Given the description of an element on the screen output the (x, y) to click on. 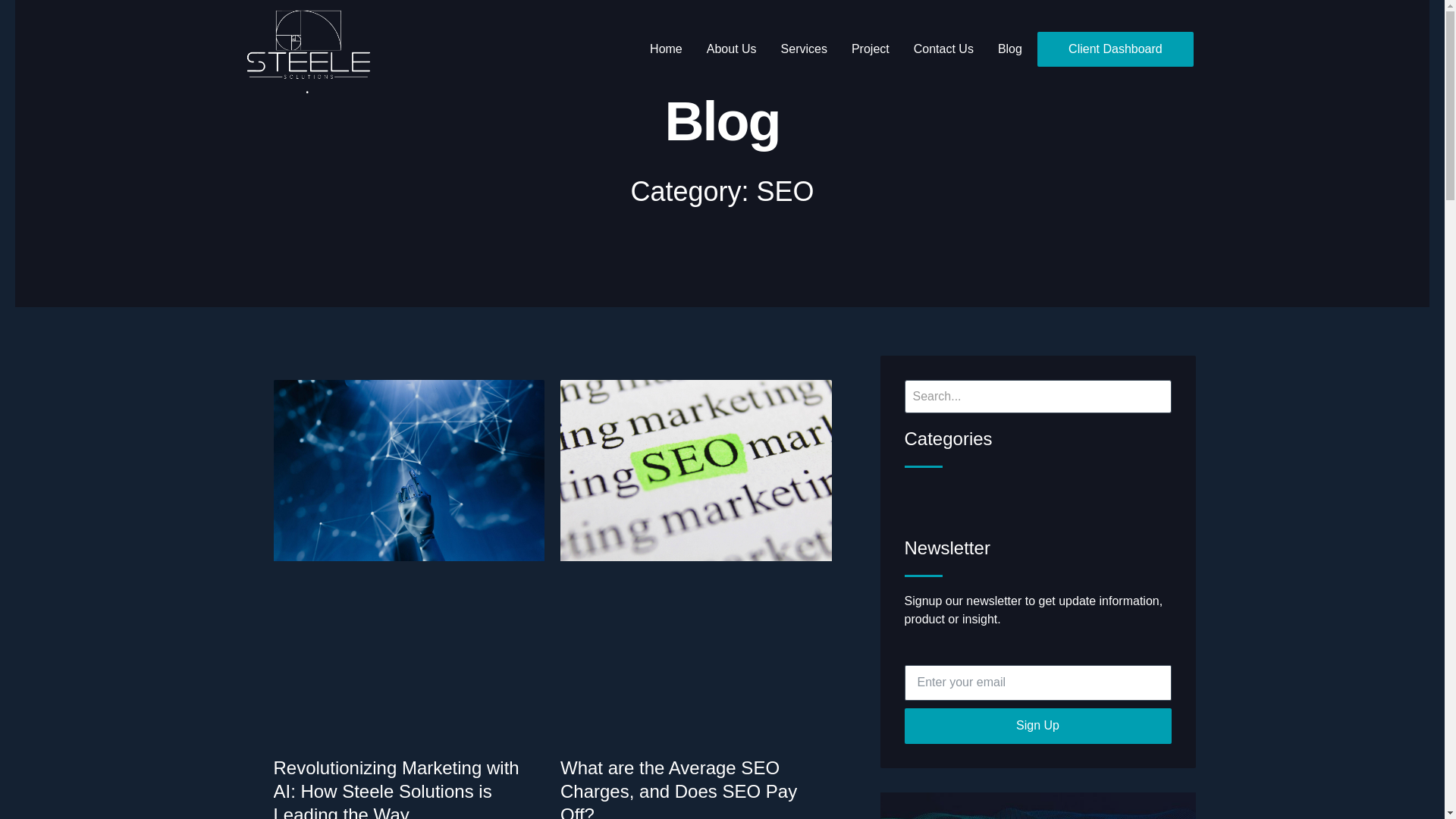
Client Dashboard (1114, 48)
About Us (731, 48)
Services (803, 48)
Search (1037, 396)
What are the Average SEO Charges, and Does SEO Pay Off? (678, 788)
Project (870, 48)
Contact Us (944, 48)
